Given the description of an element on the screen output the (x, y) to click on. 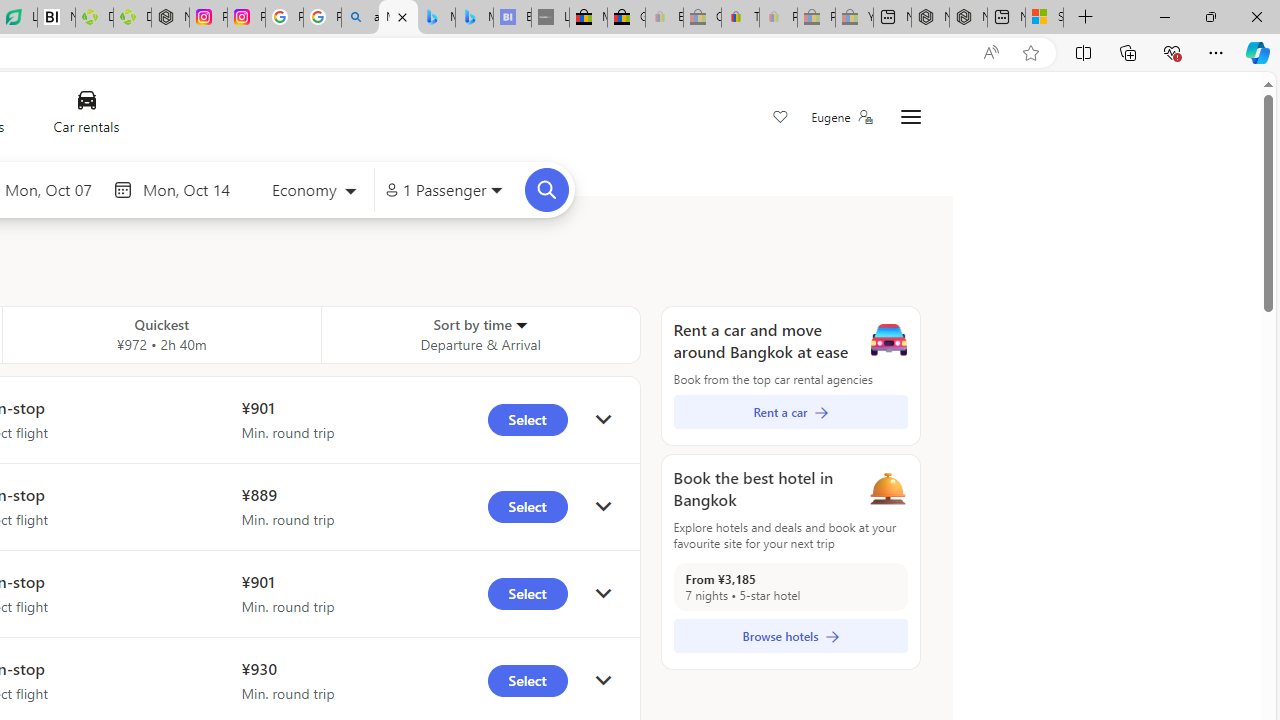
Nordace - Nordace Edin Collection (170, 17)
Payments Terms of Use | eBay.com - Sleeping (778, 17)
Car rentals (85, 116)
Descarga Driver Updater (132, 17)
Save (780, 118)
Sort by time Sorter Departure & Arrival (480, 334)
Select class of service (313, 192)
Press Room - eBay Inc. - Sleeping (815, 17)
